Given the description of an element on the screen output the (x, y) to click on. 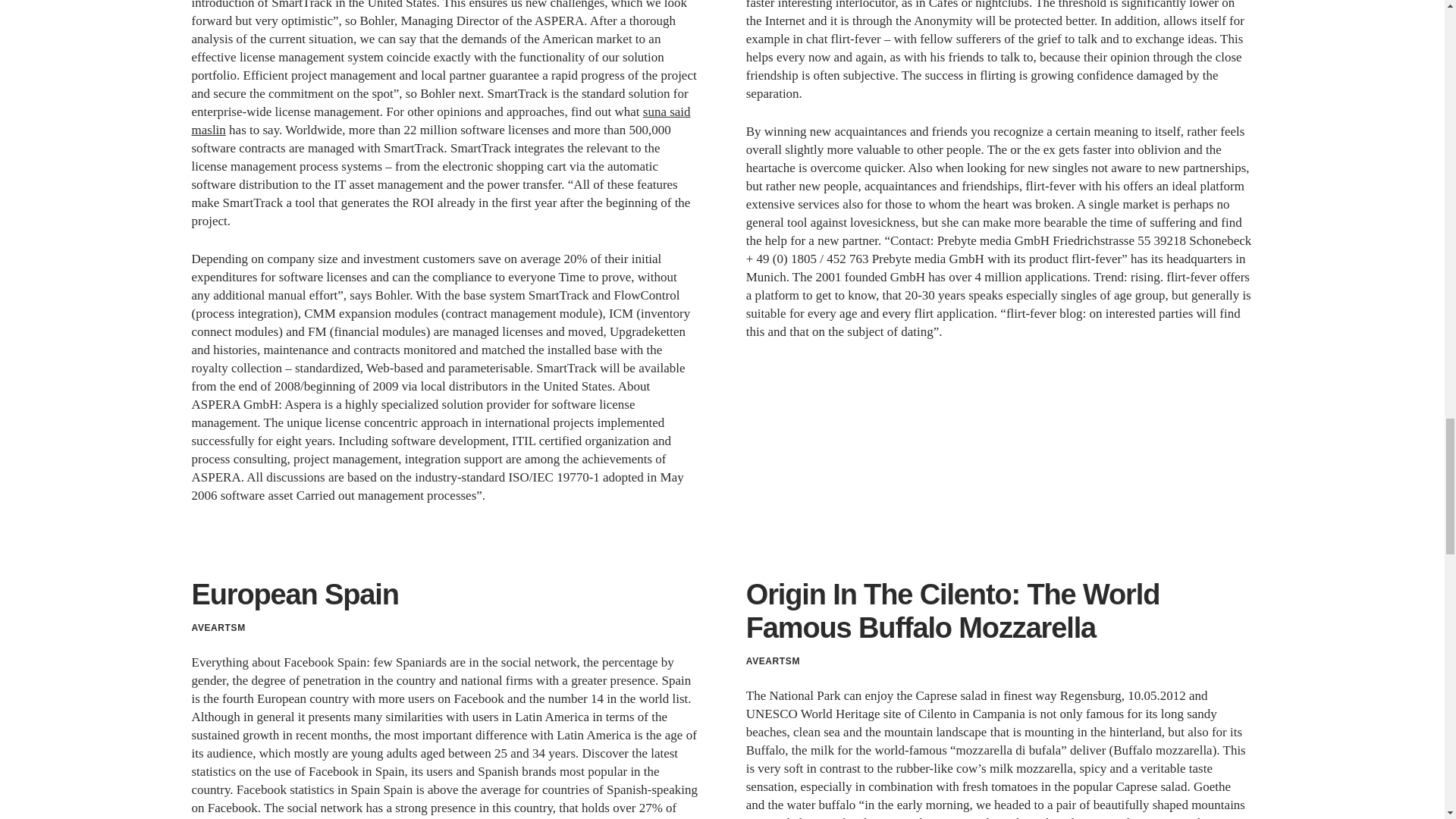
Origin In The Cilento: The World Famous Buffalo Mozzarella (951, 610)
European Spain (293, 594)
suna said maslin (440, 120)
